Given the description of an element on the screen output the (x, y) to click on. 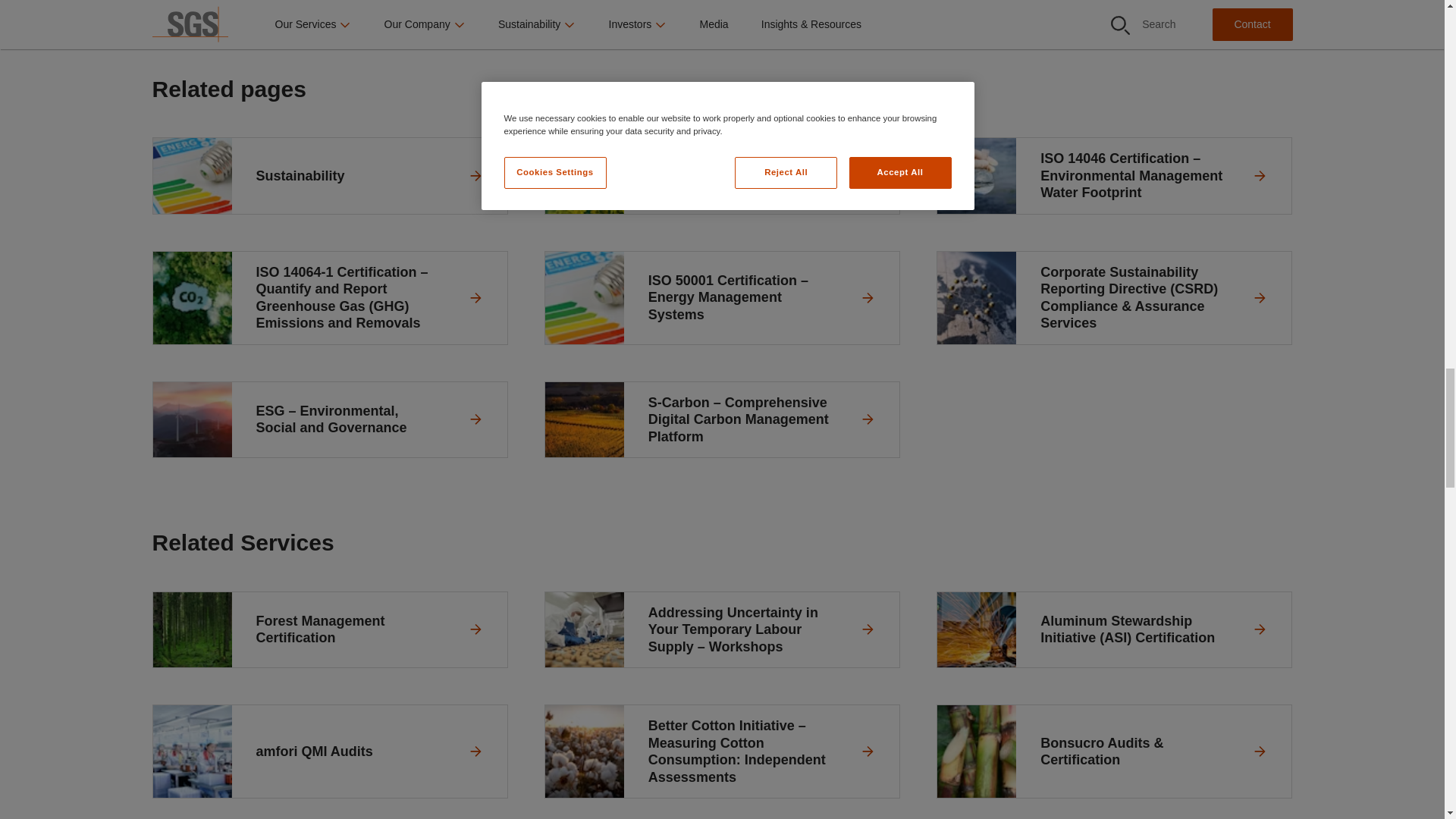
Sustainability (329, 175)
